Given the description of an element on the screen output the (x, y) to click on. 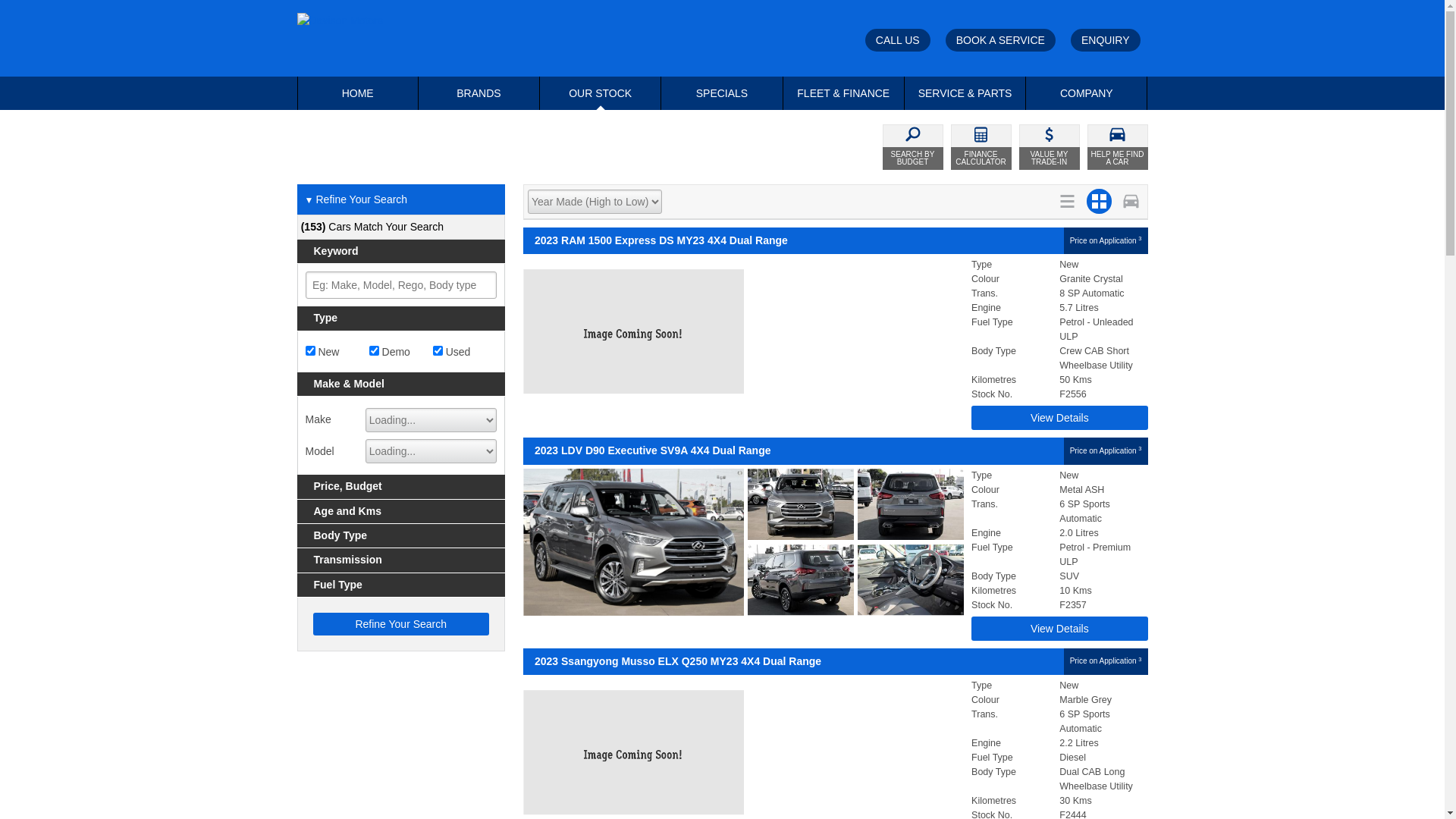
Price on Application 3 Element type: text (1105, 240)
SEARCH BY BUDGET Element type: text (912, 146)
Body Type Element type: text (401, 535)
CALL US Element type: text (897, 39)
Fuel Type Element type: text (401, 584)
COMPANY Element type: text (1086, 92)
Make & Model Element type: text (401, 383)
2023 LDV D90 Executive SV9A 4X4 Dual Range Element type: text (793, 450)
FLEET & FINANCE Element type: text (843, 92)
BRANDS Element type: text (478, 92)
FINANCE CALCULATOR Element type: text (980, 146)
ENQUIRY Element type: text (1105, 39)
Type Element type: text (401, 317)
View Details Element type: text (1059, 628)
Price on Application 3 Element type: text (1105, 661)
2023 RAM 1500 Express DS MY23 4X4 Dual Range Element type: text (793, 240)
OUR STOCK Element type: text (599, 92)
2023 RAM 1500 Element type: hover (743, 330)
BOOK A SERVICE Element type: text (1000, 39)
Keyword Element type: text (401, 251)
Refine Your Search Element type: text (400, 623)
Age and Kms Element type: text (401, 511)
2023 LDV D90 Executive SV9A 4X4 Dual Range Metal Ash Element type: hover (743, 541)
HELP ME FIND A CAR Element type: text (1117, 146)
SPECIALS Element type: text (721, 92)
View Details Element type: text (1059, 417)
Price, Budget Element type: text (401, 486)
Price on Application 3 Element type: text (1105, 450)
HOME Element type: text (357, 92)
VALUE MY TRADE-IN Element type: text (1049, 146)
SERVICE & PARTS Element type: text (964, 92)
2023 Ssangyong Musso ELX Q250 MY23 4X4 Dual Range Element type: text (793, 661)
Transmission Element type: text (401, 559)
